Given the description of an element on the screen output the (x, y) to click on. 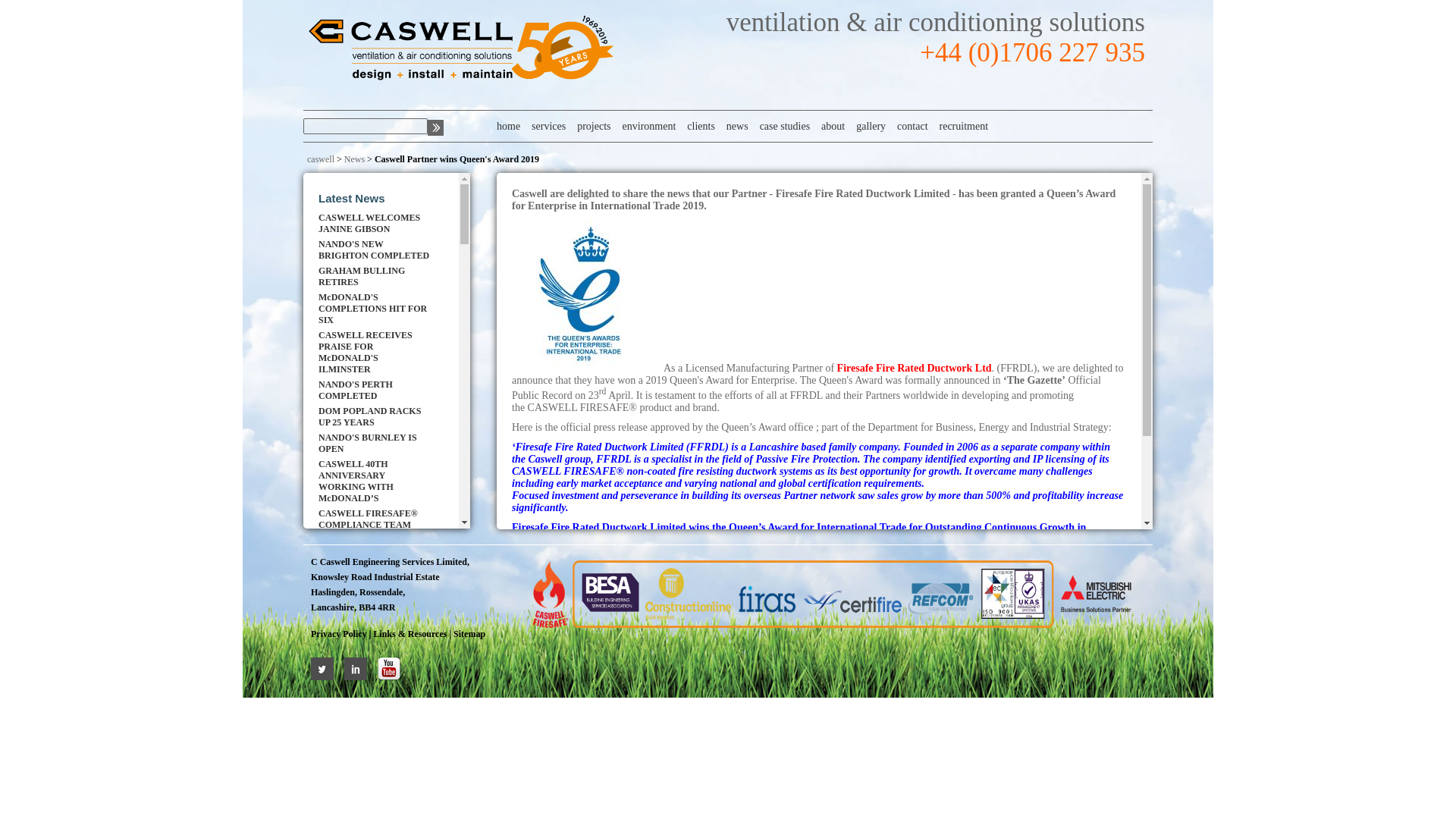
PHIL JOHNSON RETIRES (375, 684)
News (354, 158)
caswell (320, 158)
environment (644, 125)
NANDO'S MORFA PARK (375, 551)
Gallery (864, 125)
Search (436, 127)
THEO BALSHAW WINS AWARD (375, 572)
Search (436, 127)
DOM POPLAND RACKS UP 25 YEARS (375, 416)
CASWELL AND NANDO'S SHOW HEART (375, 662)
McDONALD'S COMPLETIONS HIT FOR SIX (375, 308)
Caswell (459, 49)
Case Studies (778, 125)
Caswelll Engineering Ltd Sitemap (469, 633)
